Given the description of an element on the screen output the (x, y) to click on. 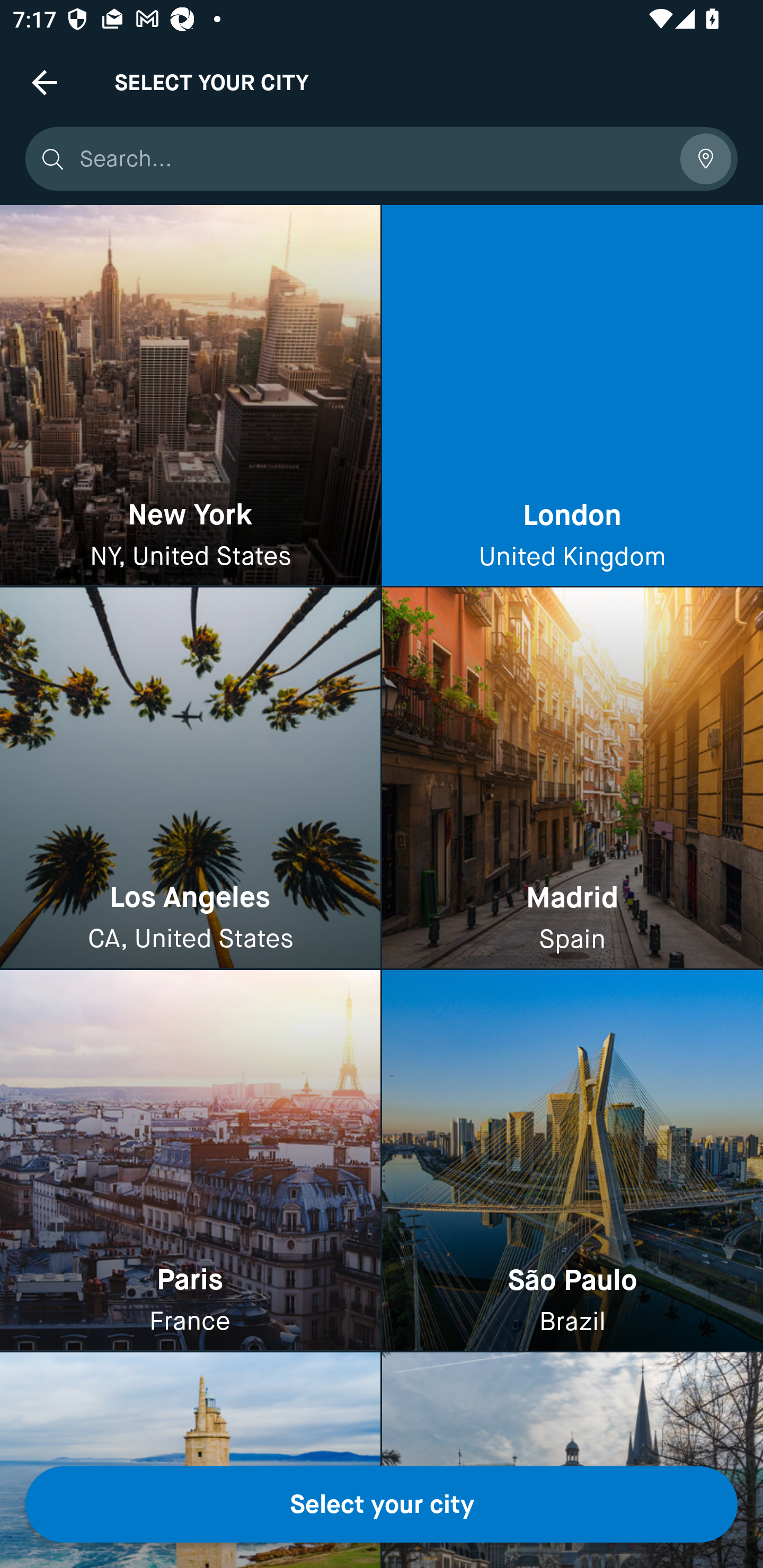
Navigate up (44, 82)
Search... (373, 159)
New York NY, United States (190, 395)
London United Kingdom (572, 395)
Los Angeles CA, United States (190, 778)
Madrid Spain (572, 778)
Paris France (190, 1160)
São Paulo Brazil (572, 1160)
Select your city (381, 1504)
